Given the description of an element on the screen output the (x, y) to click on. 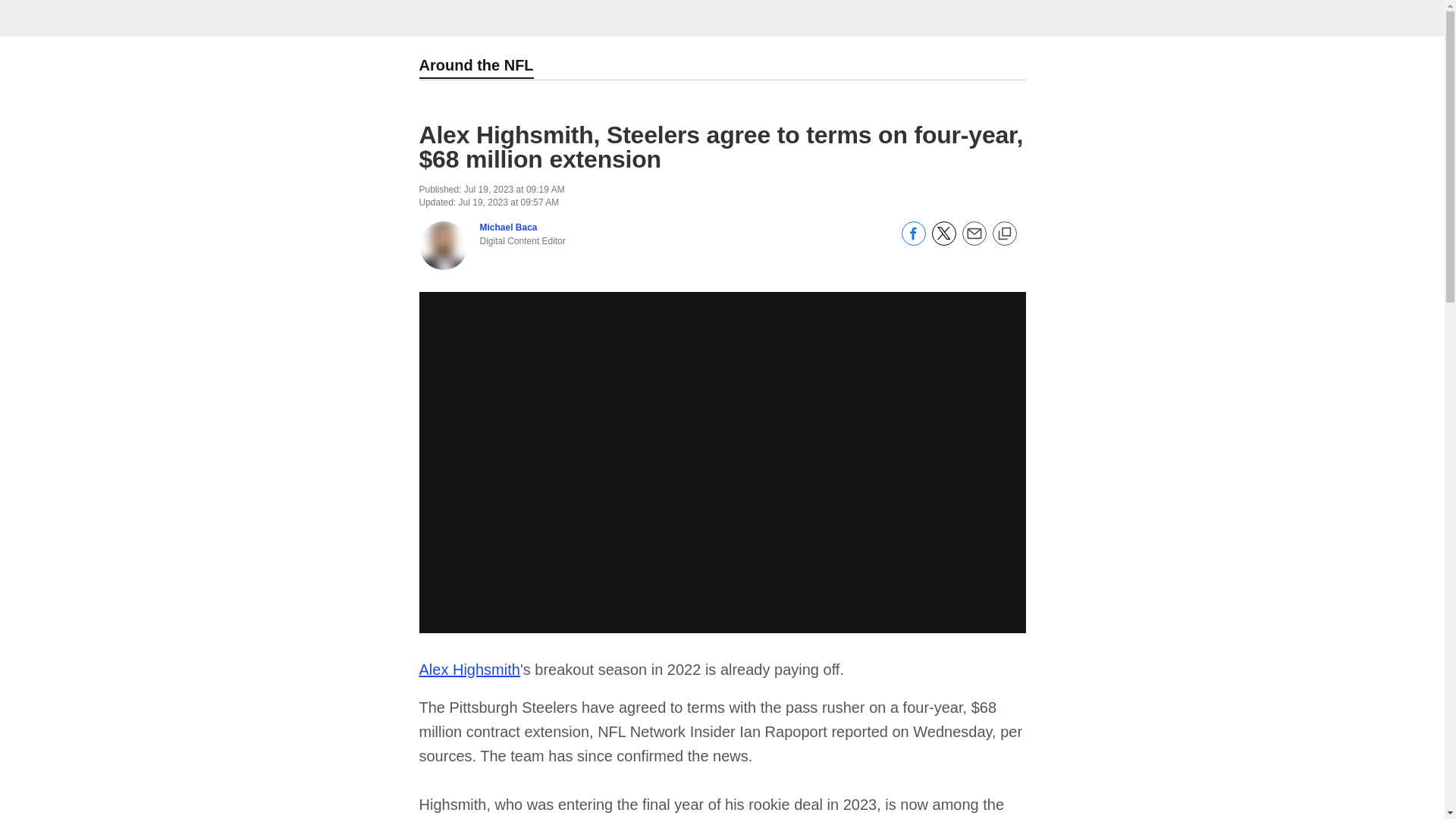
Share on Facebook (912, 241)
Send email (972, 241)
Alex Highsmith (469, 669)
Around the NFL (475, 66)
Alex Highsmith (469, 669)
Michael Baca (508, 226)
Copy link (1003, 234)
Share on Twitter (943, 241)
